Given the description of an element on the screen output the (x, y) to click on. 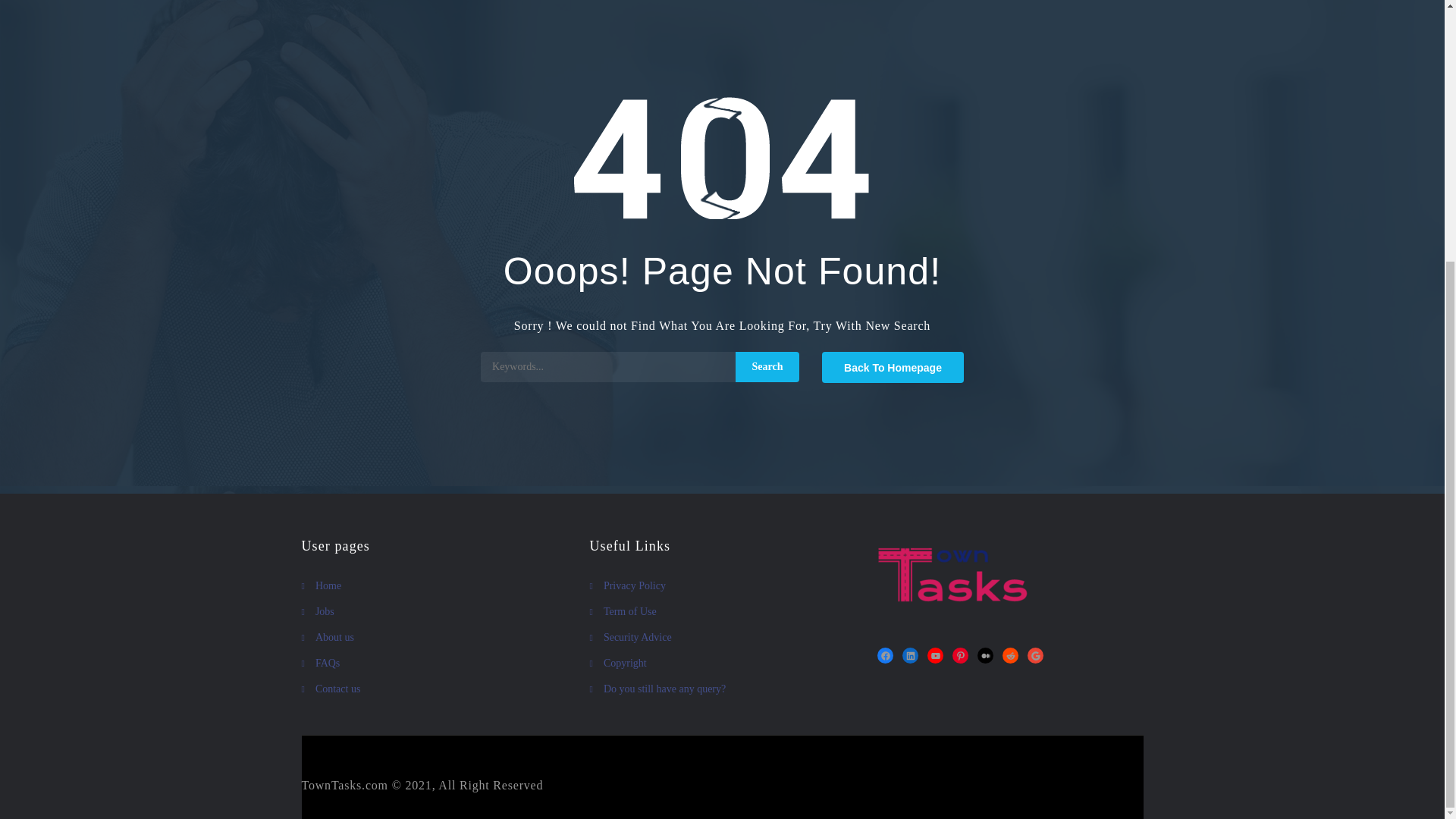
FAQs (434, 663)
Jobs (434, 611)
Copyright (721, 663)
Home (434, 586)
Do you still have any query? (721, 689)
Security Advice (721, 637)
About us (434, 637)
Search (767, 367)
Term of Use (721, 611)
Privacy Policy (721, 586)
Back To Homepage (892, 367)
Contact us (434, 689)
Search (767, 367)
Sign In (562, 35)
